Given the description of an element on the screen output the (x, y) to click on. 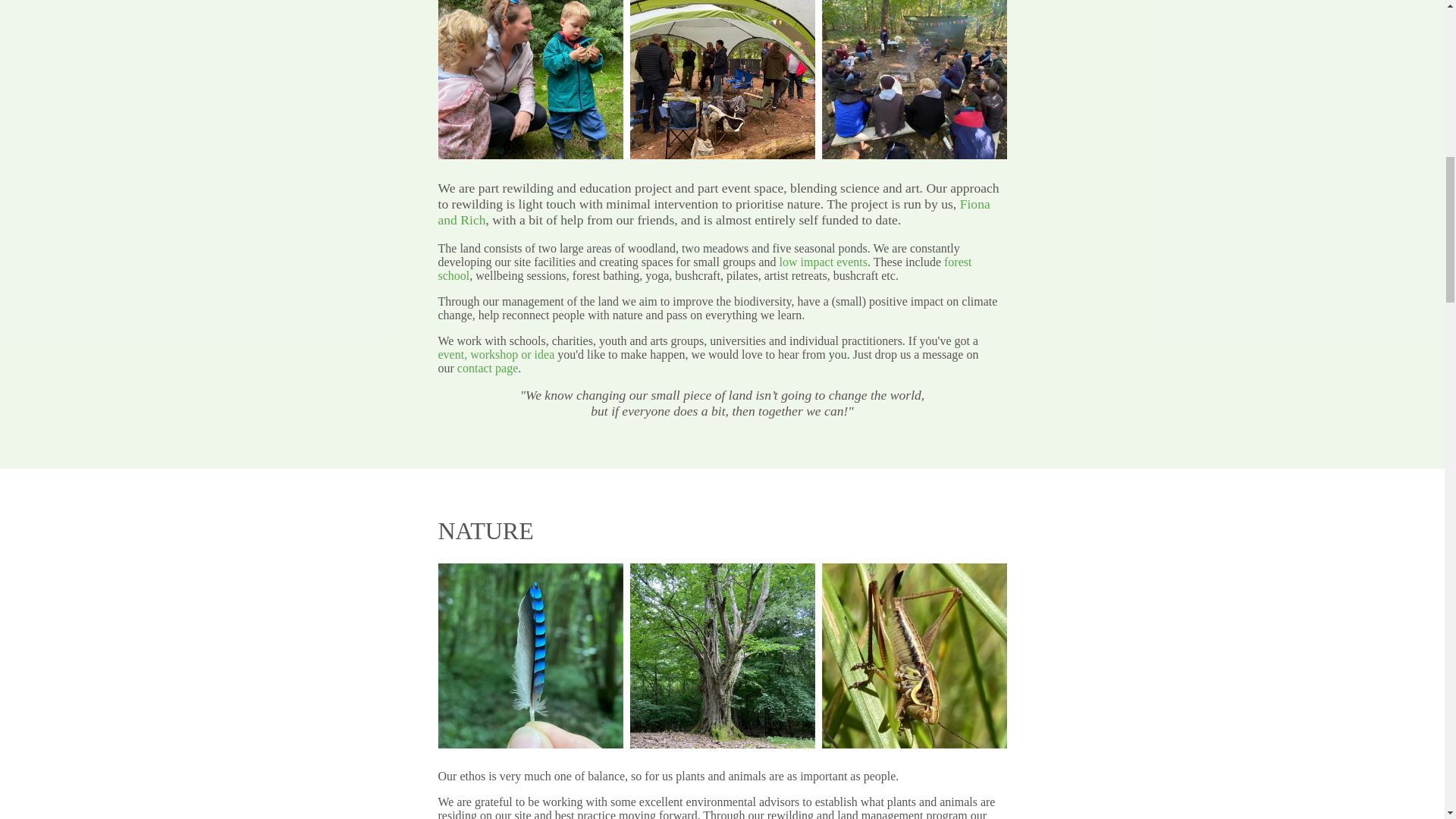
event, workshop or idea (496, 354)
Fiona and Rich (714, 211)
low impact events (822, 261)
forest school (705, 268)
contact page (487, 367)
